Given the description of an element on the screen output the (x, y) to click on. 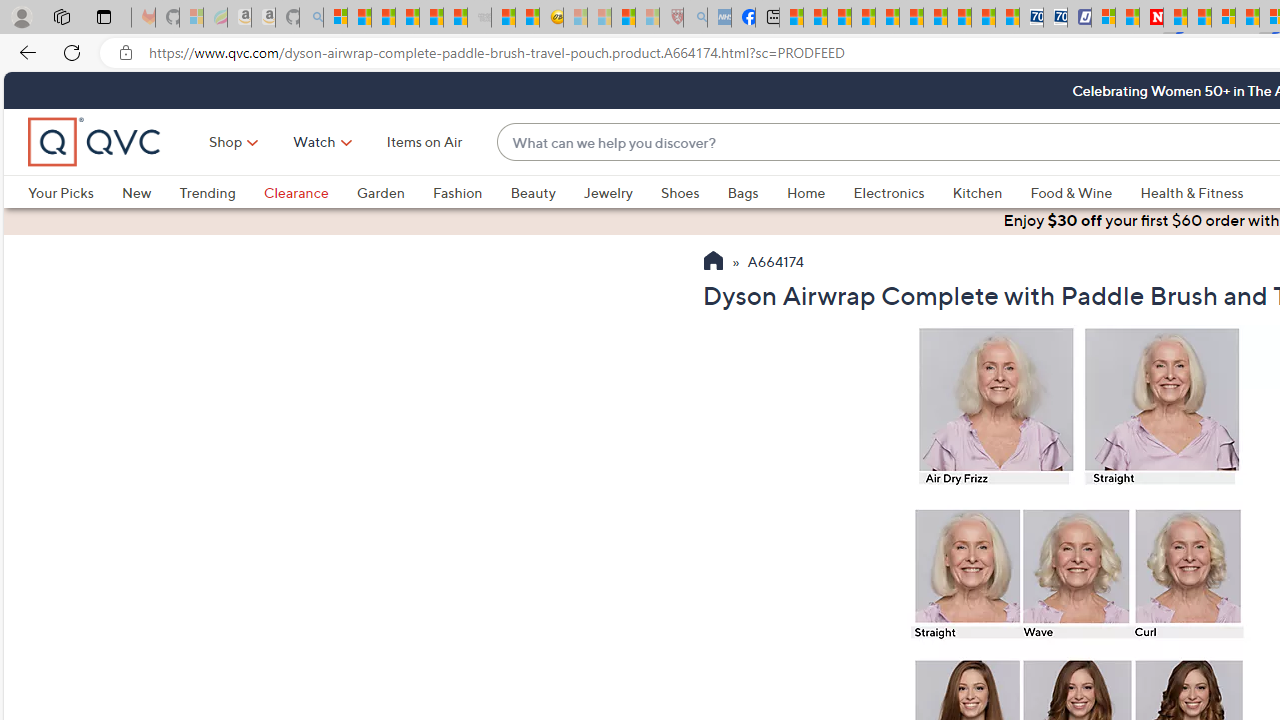
Trending (221, 192)
Health & Fitness (1197, 192)
New (136, 192)
Trending (207, 192)
Shop (226, 141)
